Given the description of an element on the screen output the (x, y) to click on. 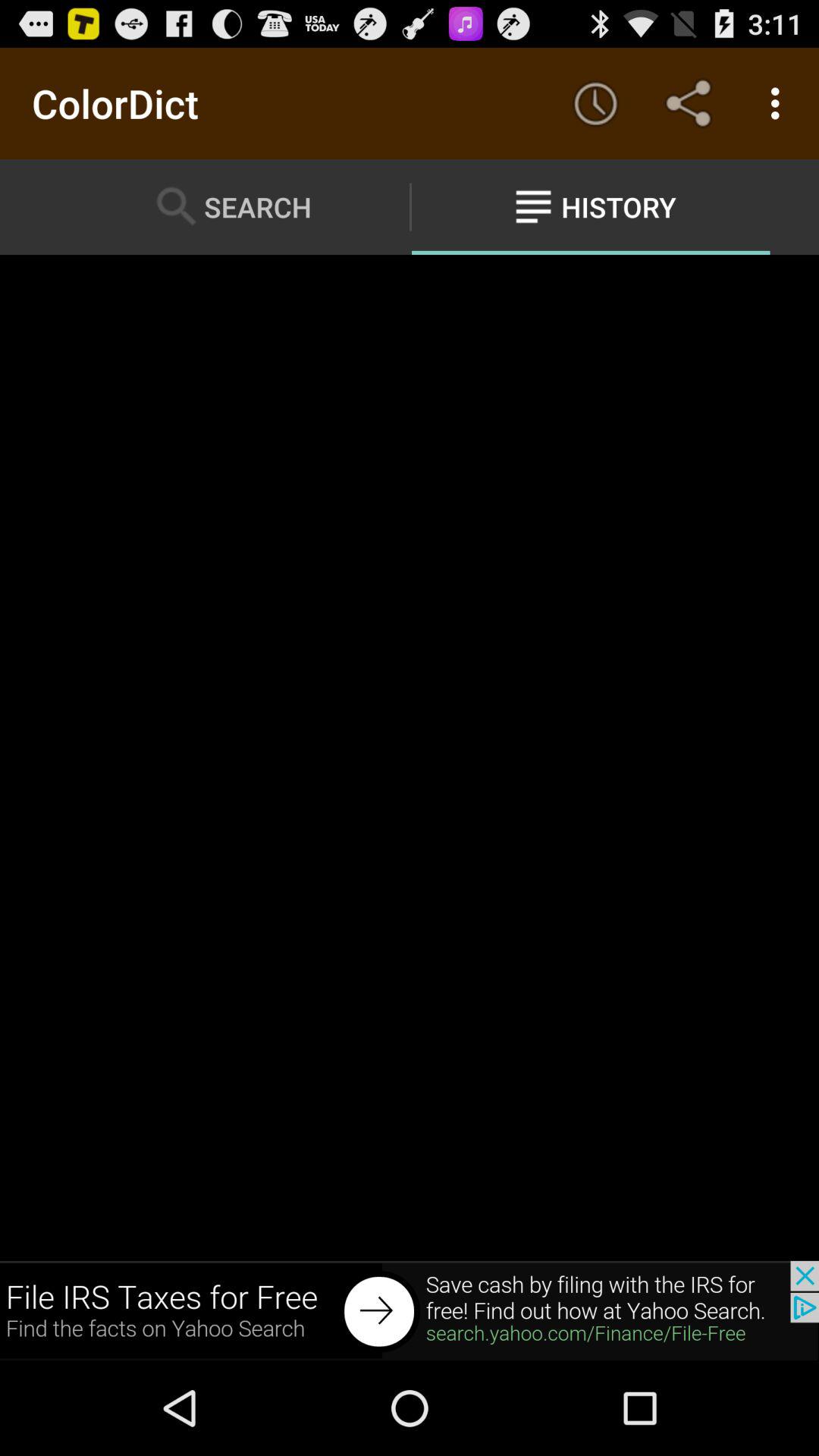
new advertisement go option (409, 1310)
